Given the description of an element on the screen output the (x, y) to click on. 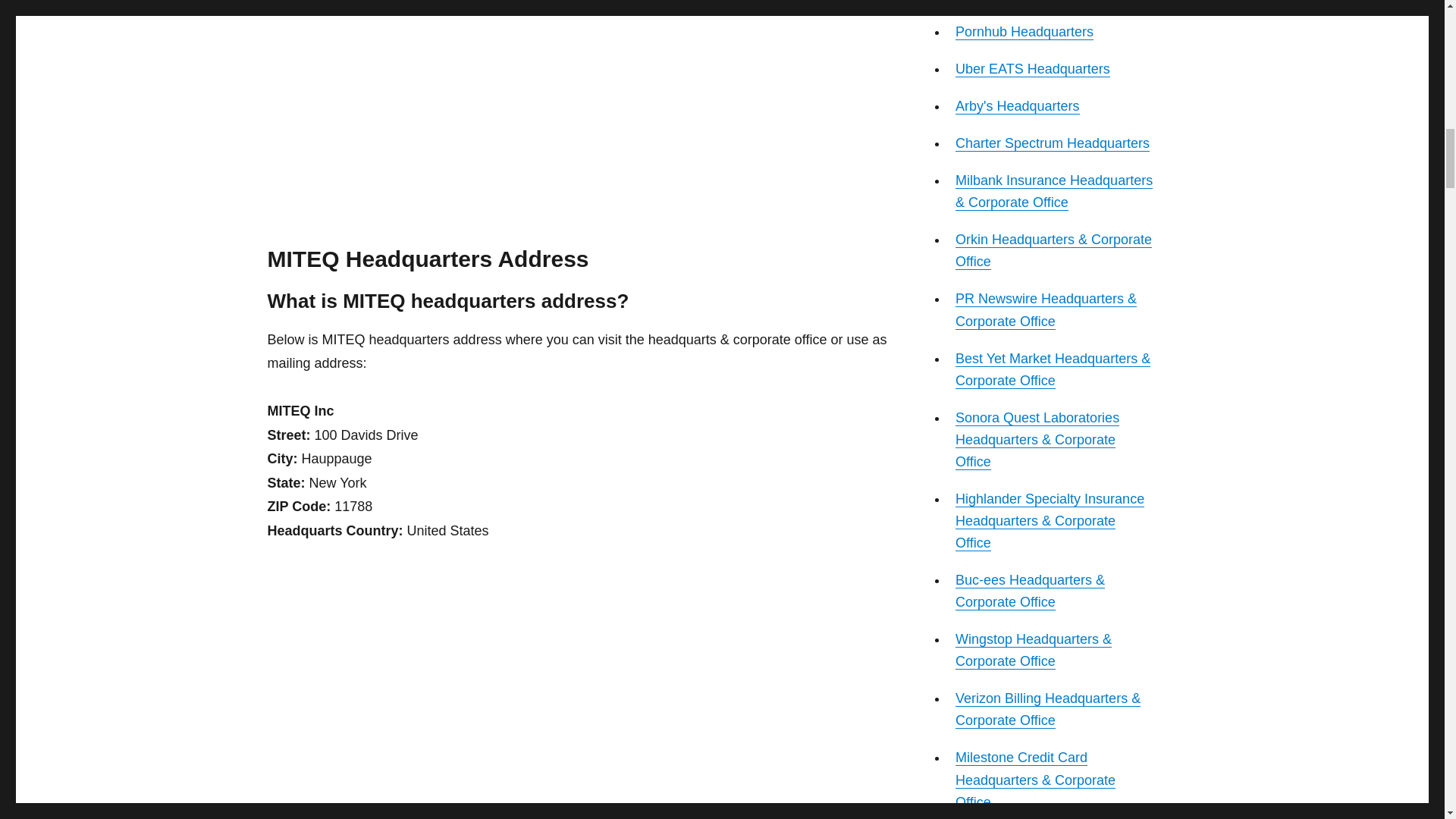
Charter Spectrum Headquarters (1052, 142)
Pornhub Headquarters (1024, 31)
Uber EATS Headquarters (1032, 68)
Arby's Headquarters (1017, 105)
Dominos Headquarters (1025, 1)
